Given the description of an element on the screen output the (x, y) to click on. 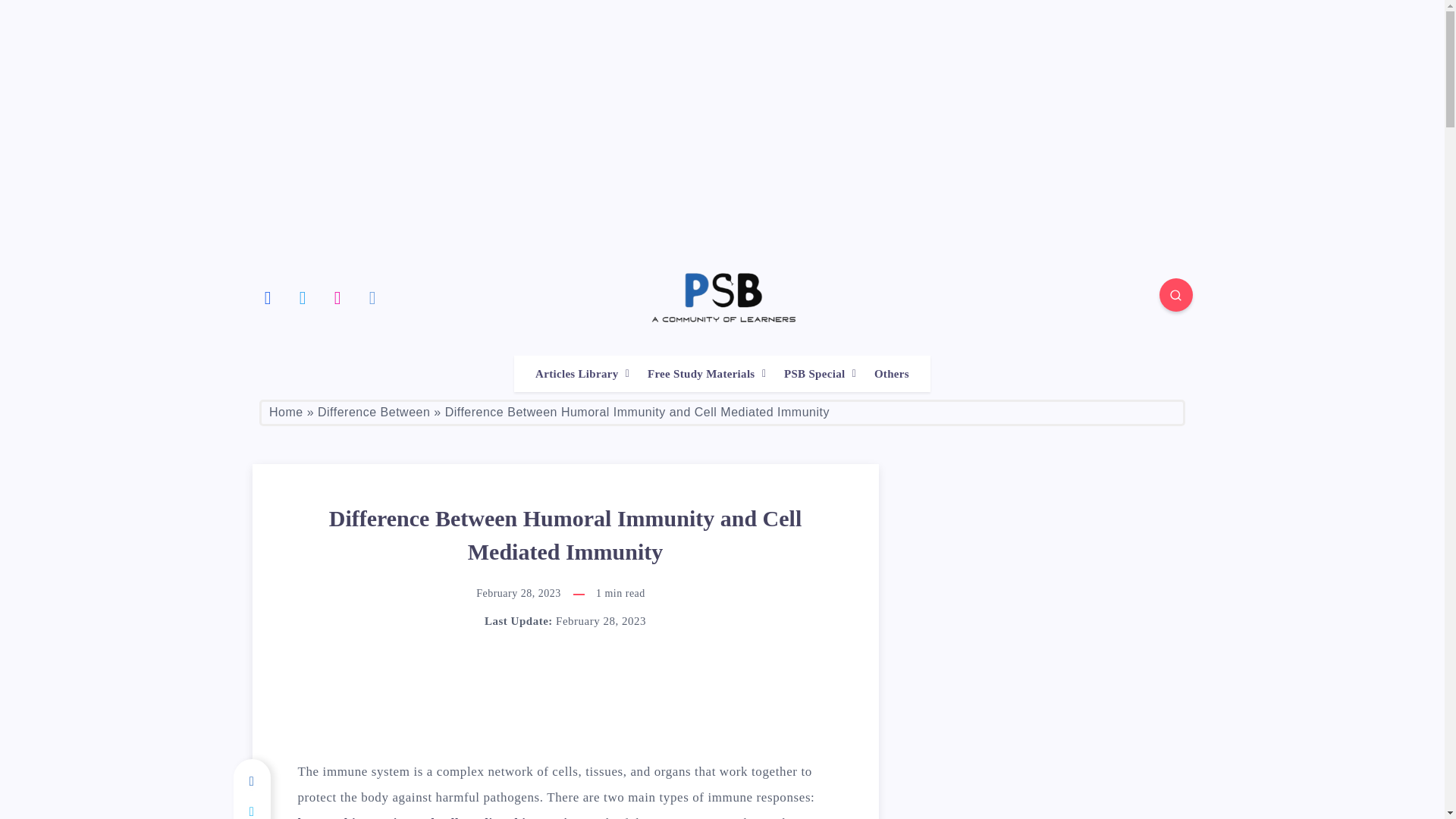
Advertisement (588, 699)
